Given the description of an element on the screen output the (x, y) to click on. 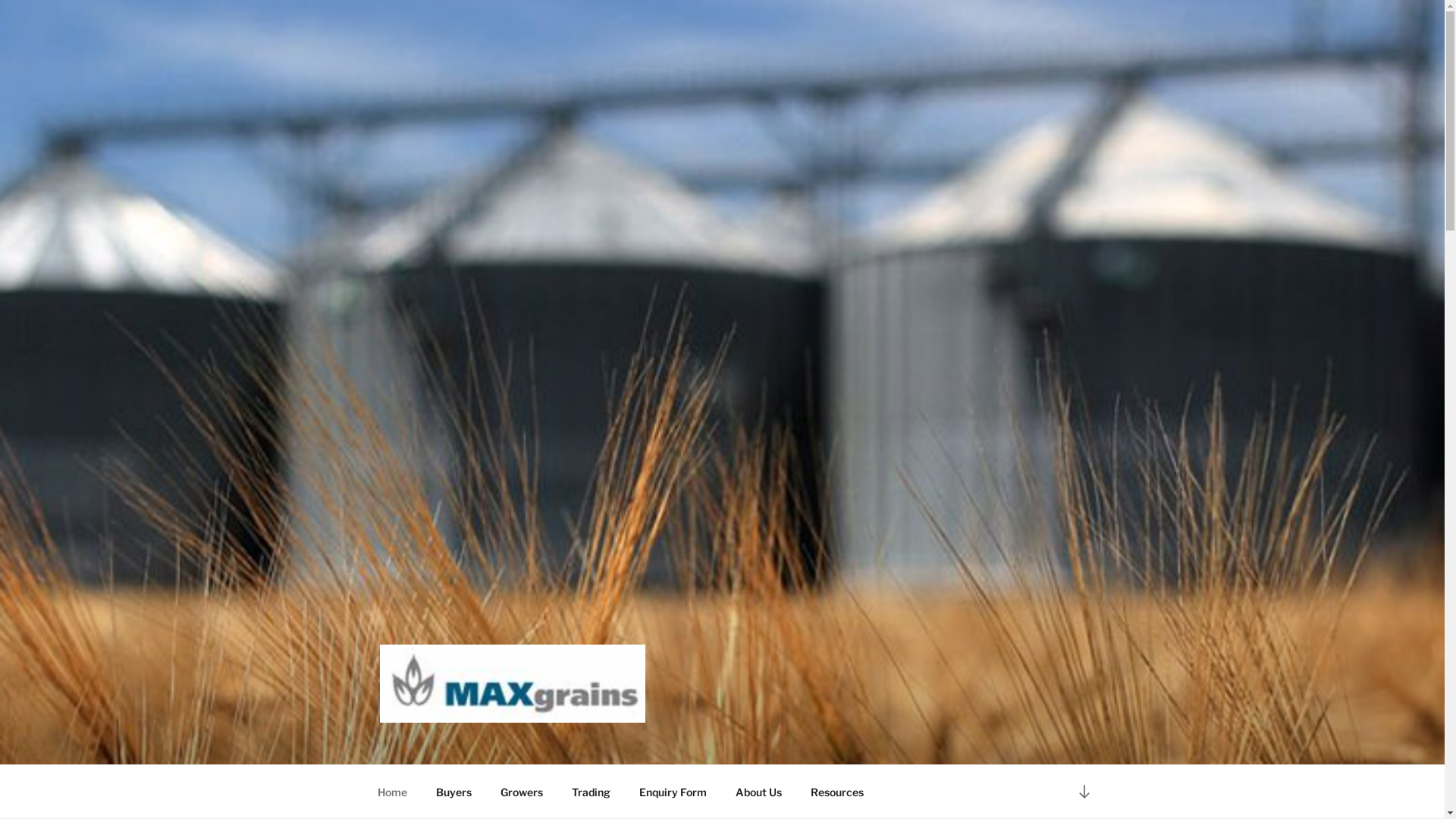
Enquiry Form Element type: text (673, 791)
Growers Element type: text (520, 791)
Scroll down to content Element type: text (1083, 790)
Buyers Element type: text (454, 791)
Trading Element type: text (590, 791)
Resources Element type: text (837, 791)
About Us Element type: text (757, 791)
MAXGRAINS Element type: text (476, 744)
Home Element type: text (392, 791)
